Given the description of an element on the screen output the (x, y) to click on. 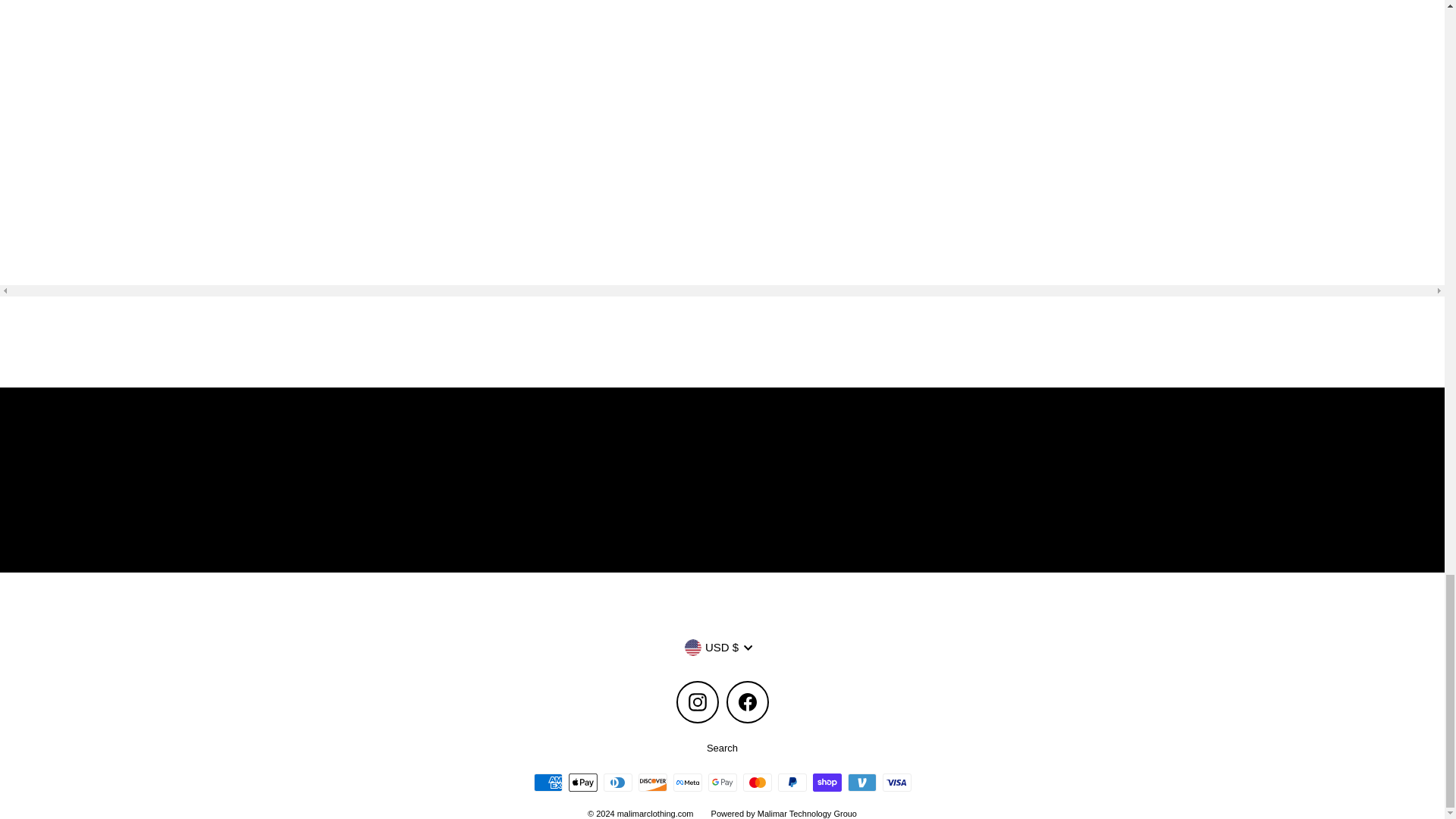
Diners Club (617, 782)
Meta Pay (686, 782)
PayPal (791, 782)
Discover (652, 782)
Google Pay (721, 782)
malimarclothing.com on Instagram (698, 701)
malimarclothing.com on Facebook (747, 701)
Mastercard (756, 782)
Apple Pay (582, 782)
Shop Pay (826, 782)
American Express (548, 782)
